Given the description of an element on the screen output the (x, y) to click on. 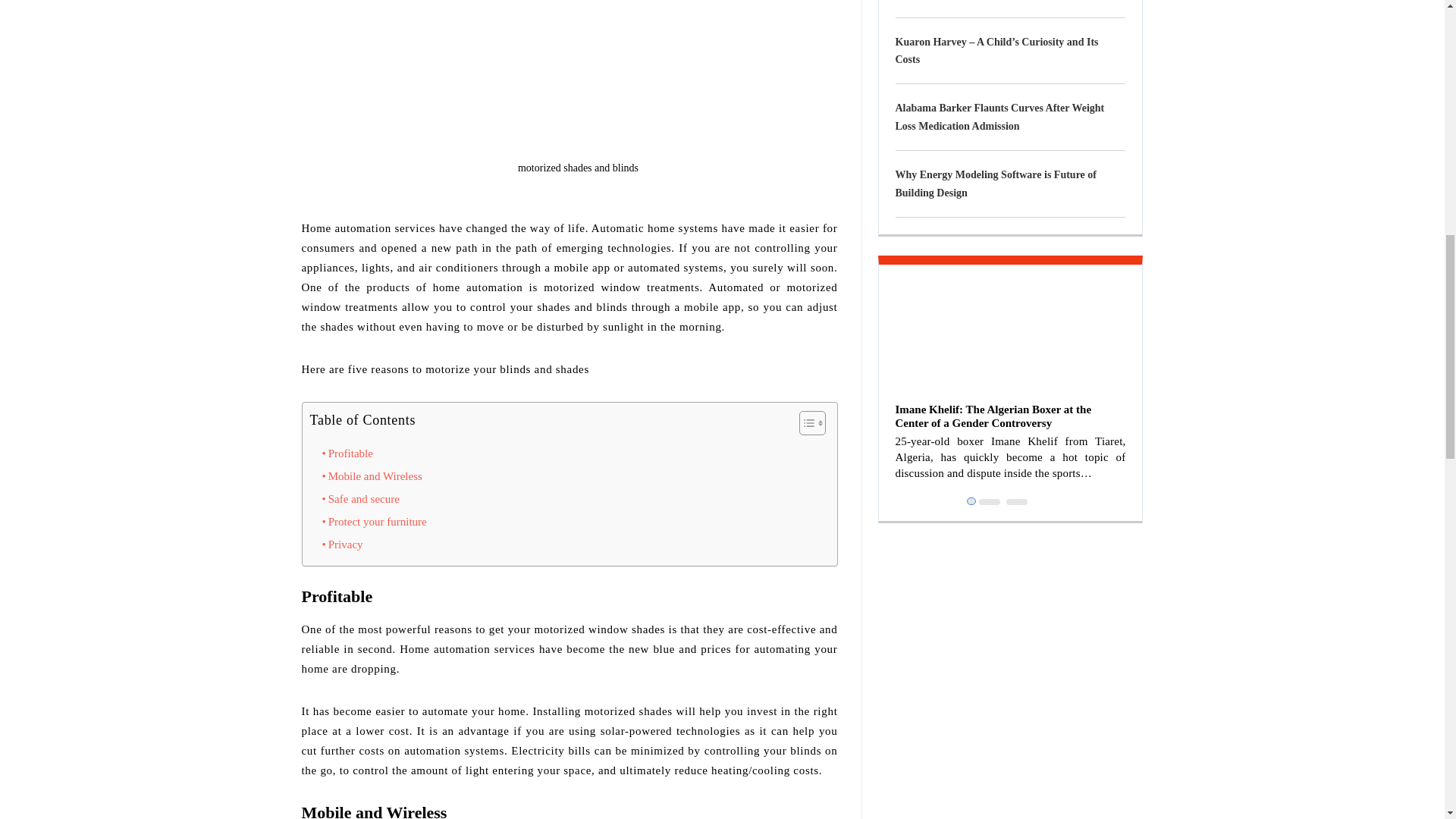
Mobile and Wireless (371, 475)
Protect your furniture (373, 521)
Profitable (346, 453)
Privacy (341, 544)
Safe and secure (359, 498)
